Given the description of an element on the screen output the (x, y) to click on. 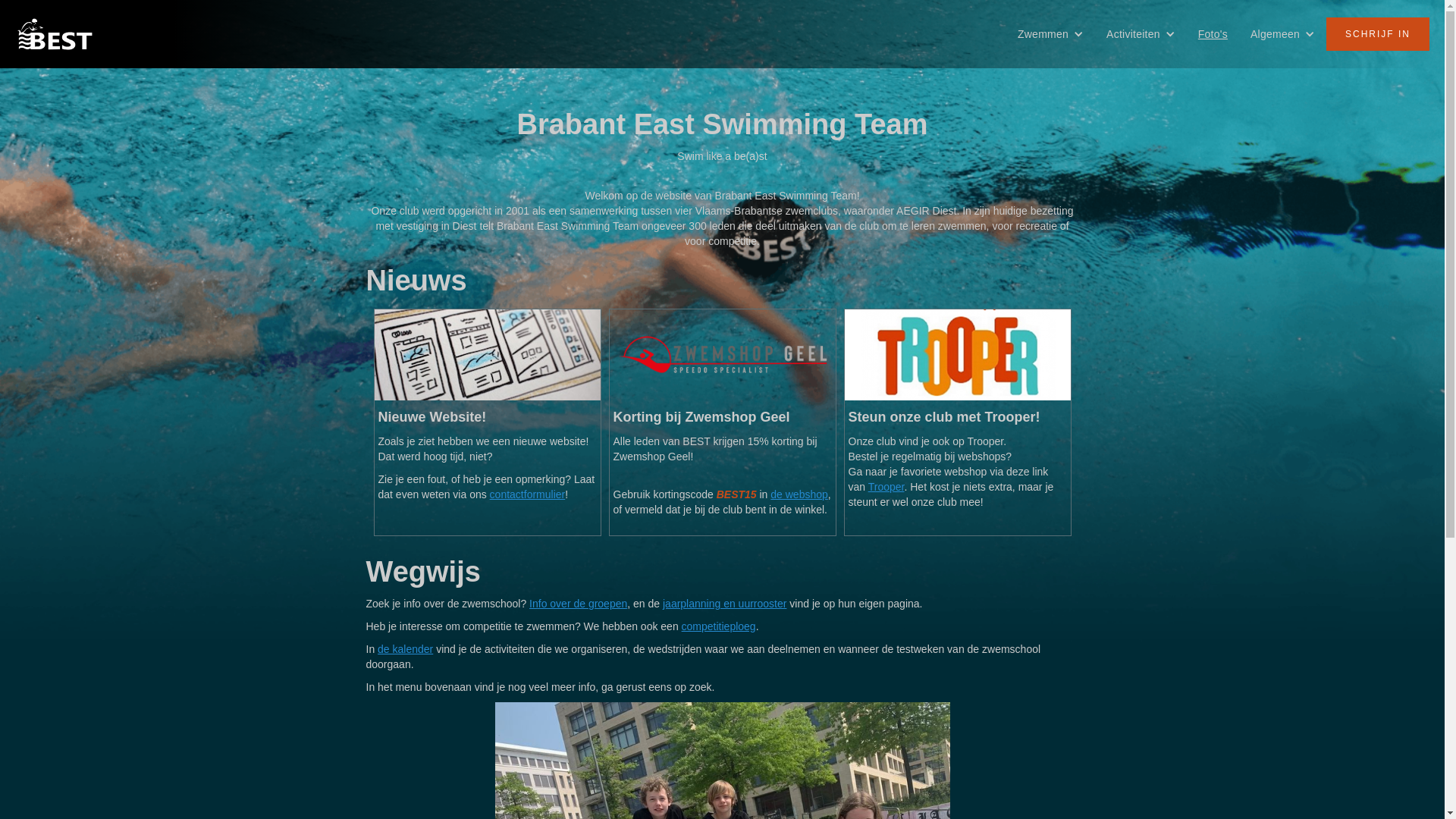
contactformulier Element type: text (527, 494)
competitieploeg Element type: text (718, 626)
Foto's Element type: text (1212, 33)
de kalender Element type: text (405, 649)
Info over de groepen Element type: text (578, 603)
SCHRIJF IN Element type: text (1377, 33)
jaarplanning en uurrooster Element type: text (724, 603)
de webshop Element type: text (799, 494)
Trooper Element type: text (886, 486)
